Given the description of an element on the screen output the (x, y) to click on. 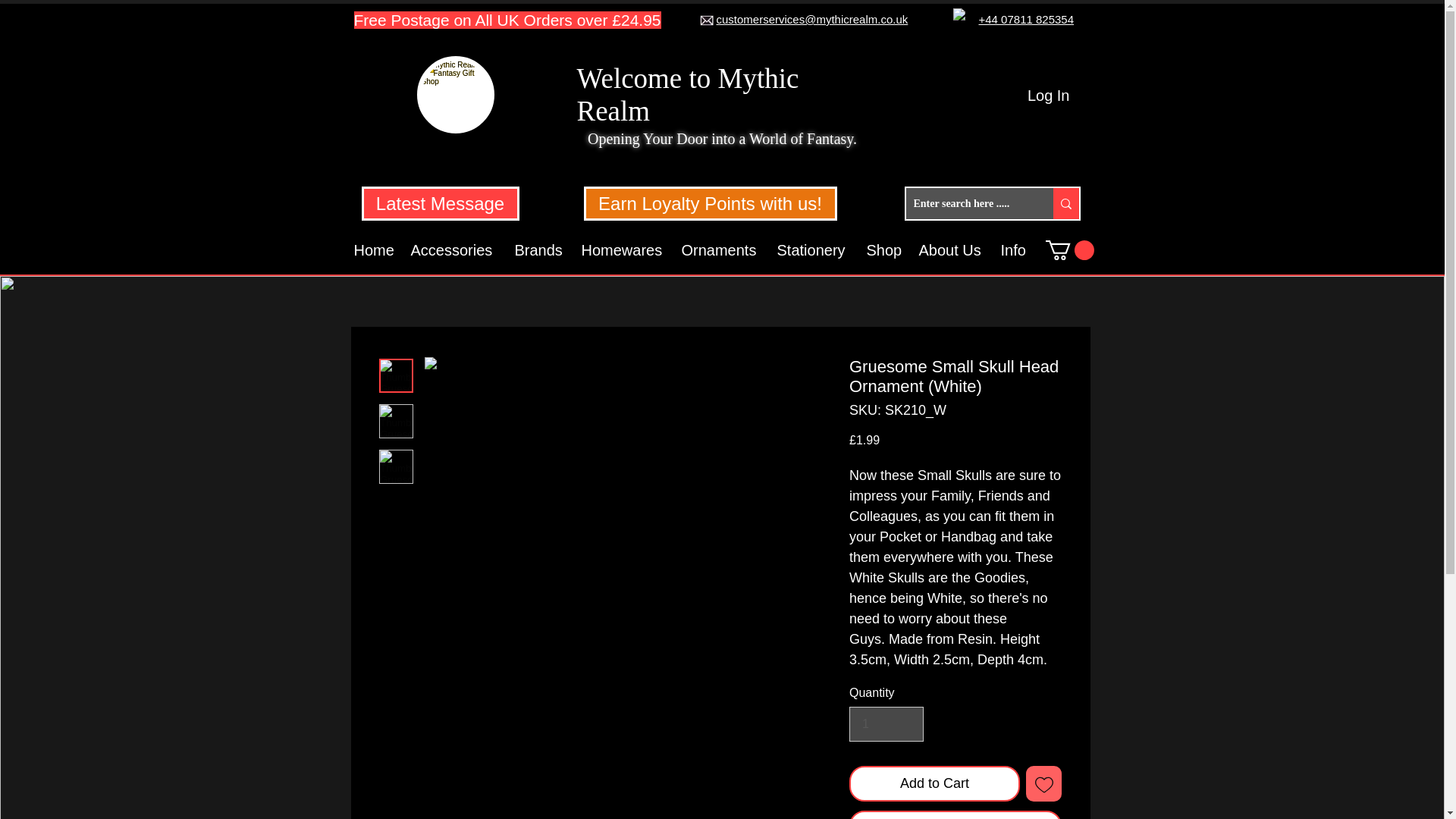
Home (374, 250)
Log In (1048, 95)
Earn Loyalty Points with us! (710, 203)
Ornaments (720, 250)
1 (885, 724)
Latest Message (439, 203)
